Given the description of an element on the screen output the (x, y) to click on. 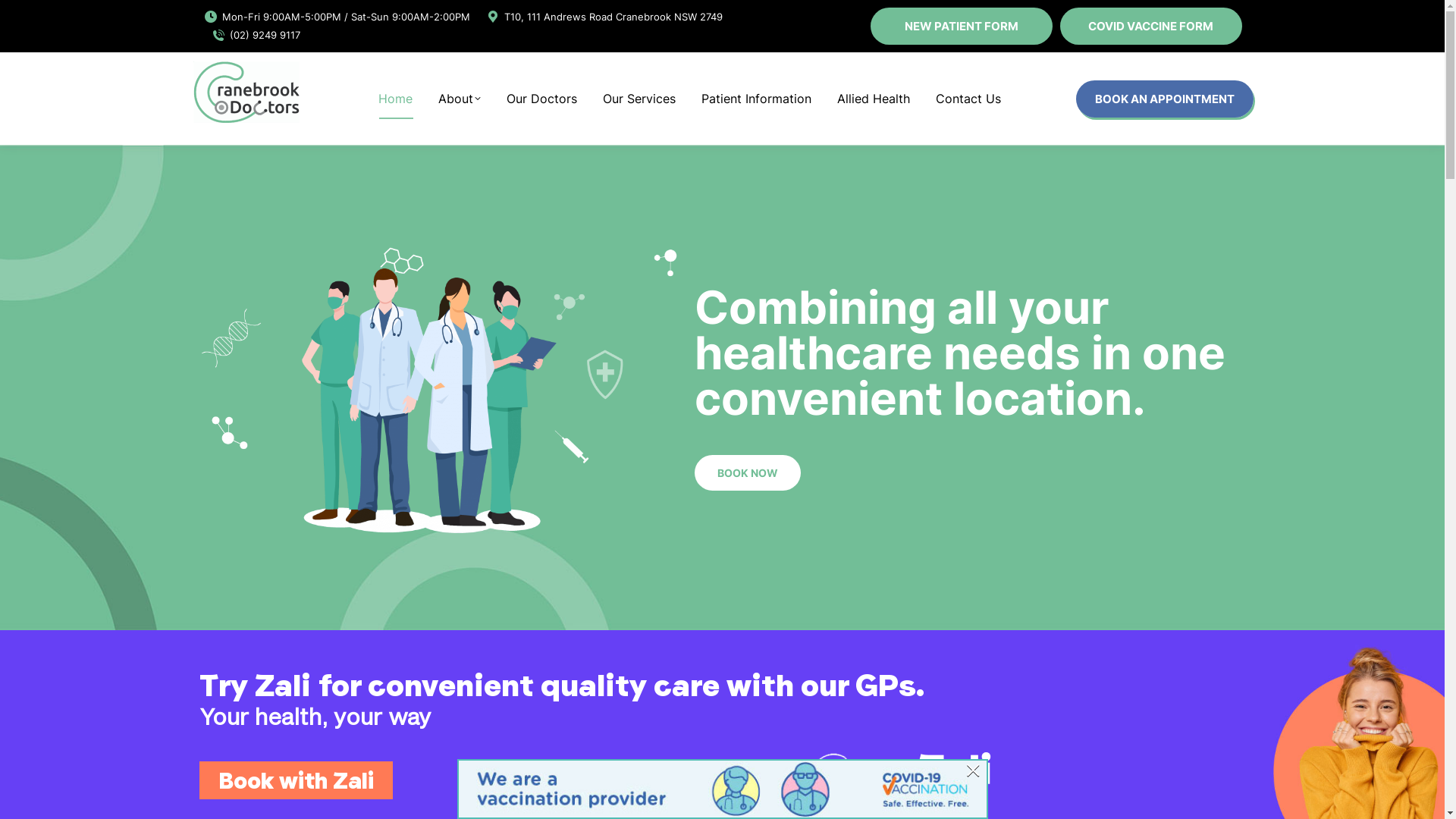
Contact Us Element type: text (968, 98)
BOOK AN APPOINTMENT Element type: text (1163, 98)
Our Doctors Element type: text (541, 98)
NEW PATIENT FORM Element type: text (961, 25)
COVID VACCINE FORM Element type: text (1151, 25)
BOOK NOW Element type: text (747, 472)
Home Element type: text (394, 98)
Allied Health Element type: text (873, 98)
Our Services Element type: text (638, 98)
Patient Information Element type: text (755, 98)
About Element type: text (459, 98)
Book with Zali Element type: text (295, 780)
